Given the description of an element on the screen output the (x, y) to click on. 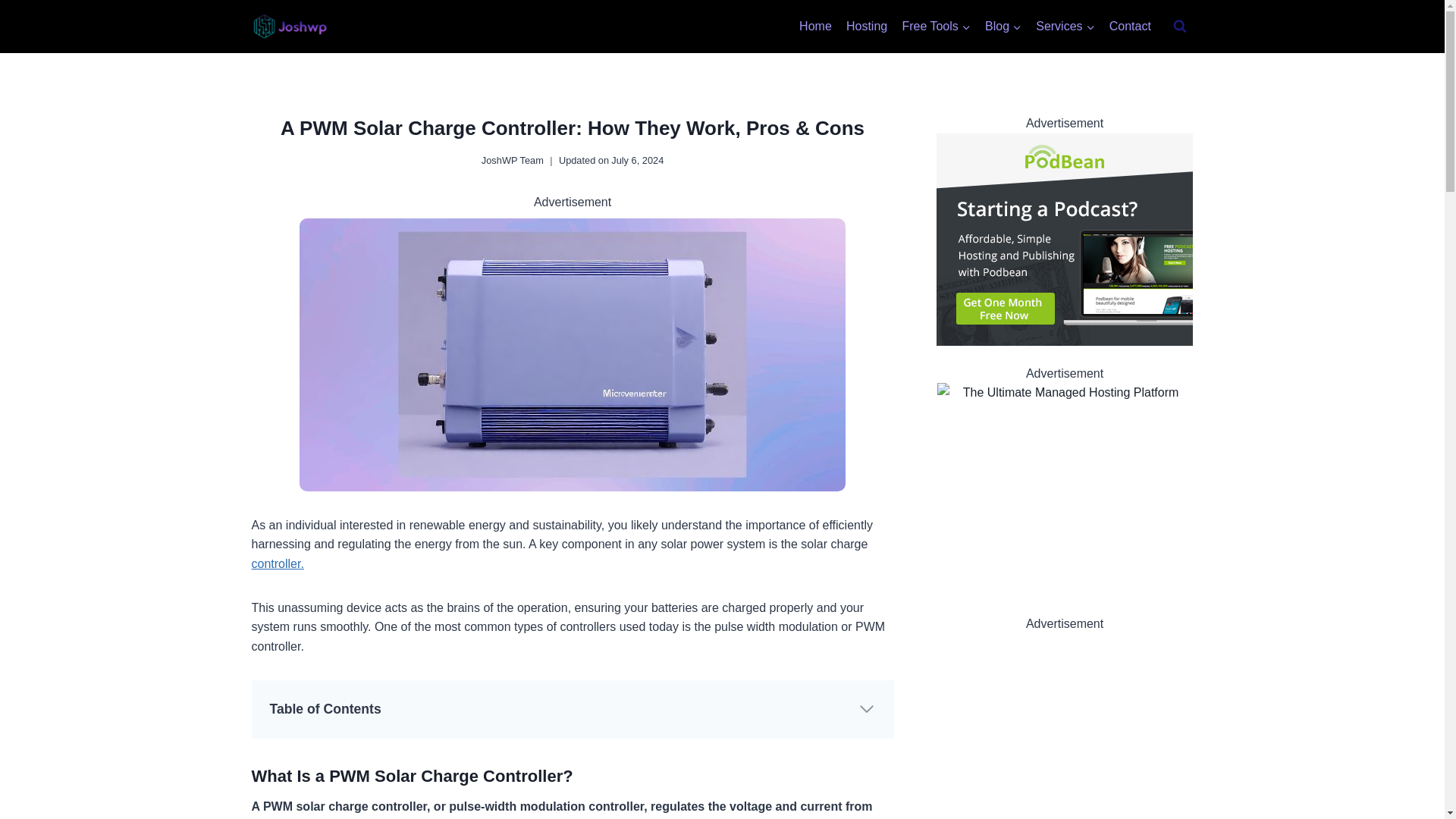
Home (815, 26)
Services (1065, 26)
Blog (1001, 26)
Free Tools (936, 26)
Table of Contents (572, 708)
Hosting (865, 26)
The Ultimate Managed Hosting Platform (1064, 489)
controller. (277, 563)
Contact (1129, 26)
JoshWP Team (512, 160)
